Given the description of an element on the screen output the (x, y) to click on. 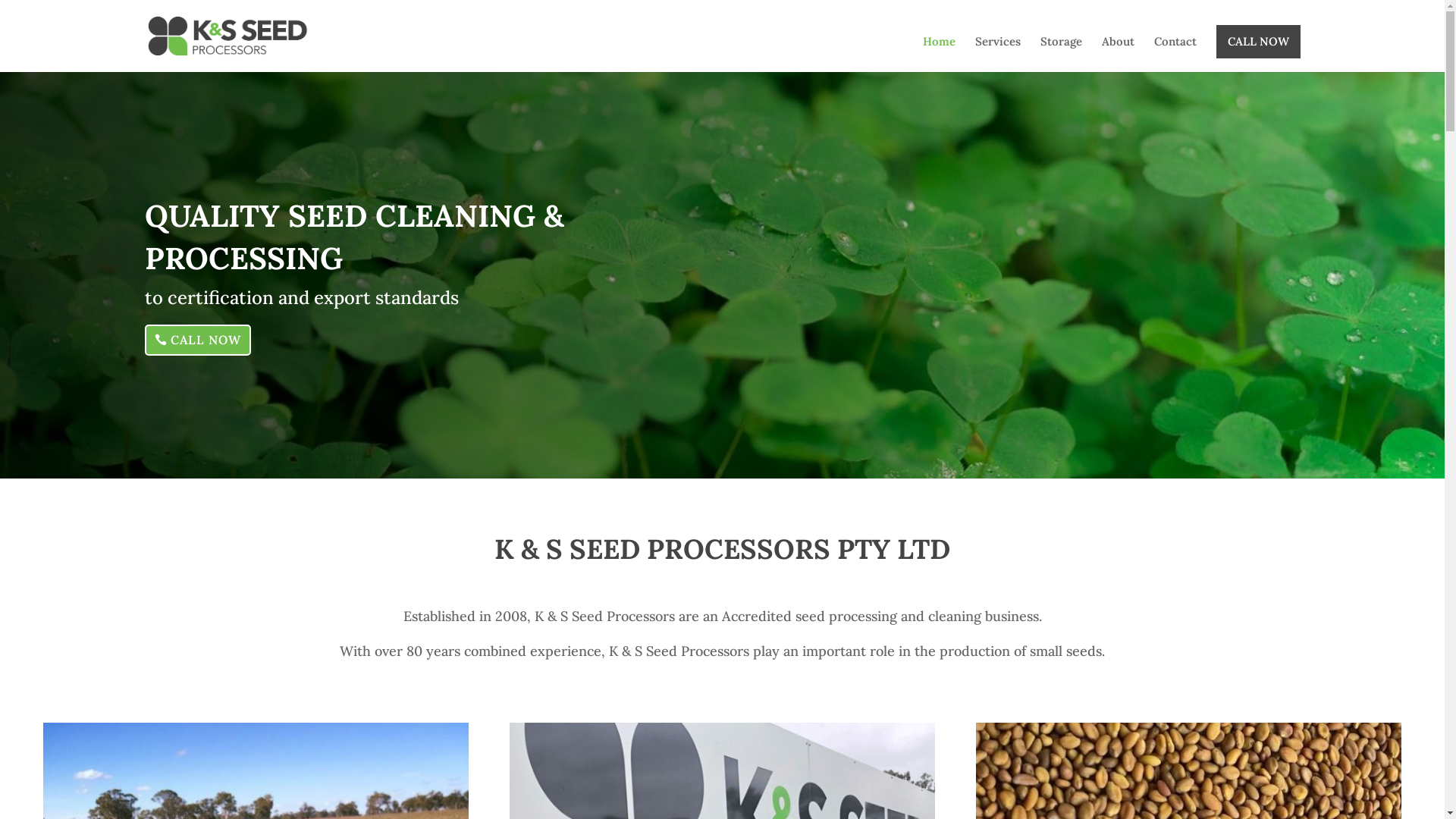
Services Element type: text (997, 54)
CALL NOW Element type: text (197, 339)
CALL NOW Element type: text (1258, 41)
Contact Element type: text (1175, 54)
Home Element type: text (938, 54)
About Element type: text (1117, 54)
Storage Element type: text (1061, 54)
